Given the description of an element on the screen output the (x, y) to click on. 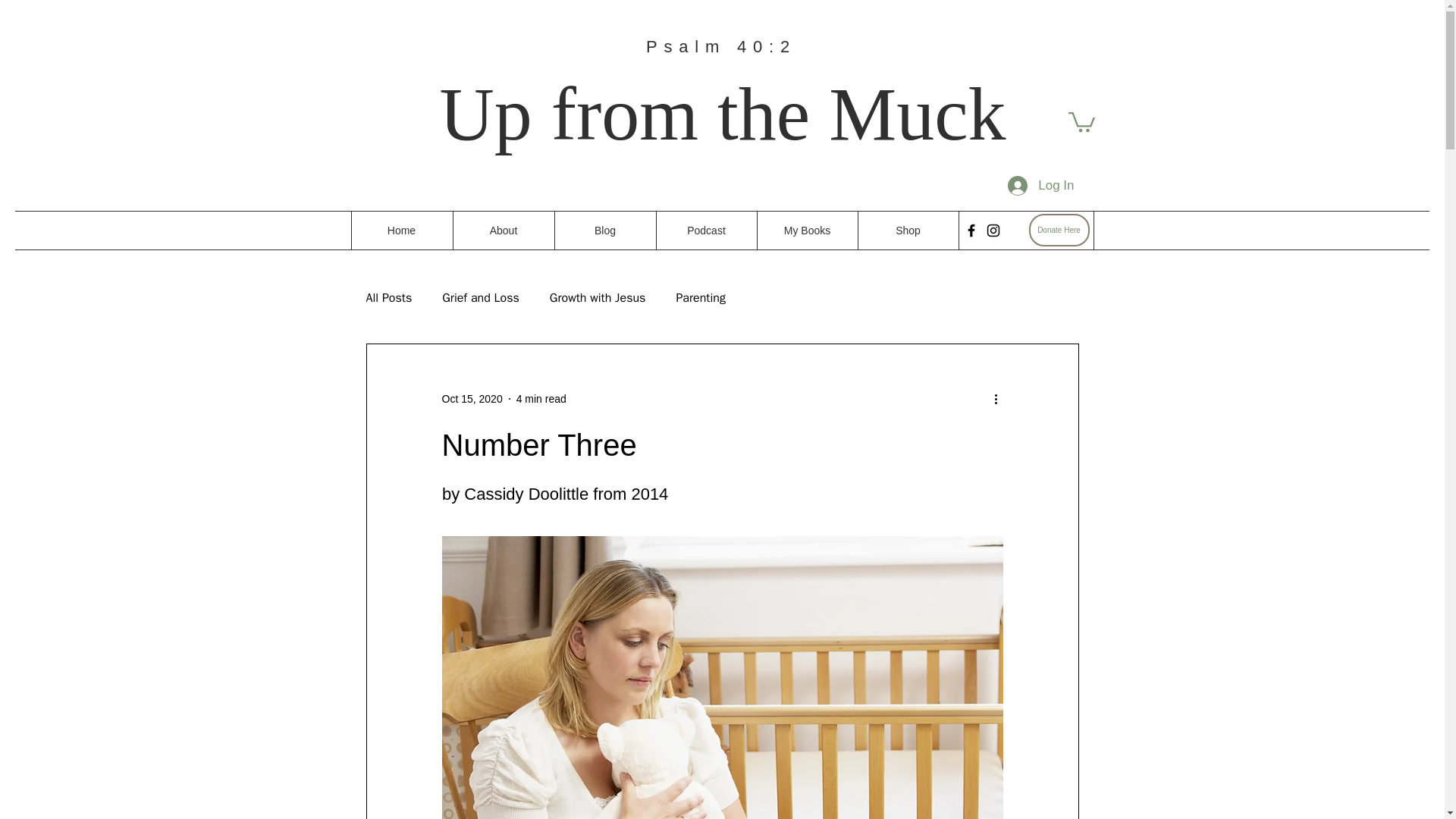
All Posts (388, 298)
Parenting (700, 298)
My Books (807, 230)
Shop (907, 230)
Donate Here (1058, 229)
About (502, 230)
Growth with Jesus (598, 298)
Home (400, 230)
Up from the Muck (722, 114)
Podcast (705, 230)
